Given the description of an element on the screen output the (x, y) to click on. 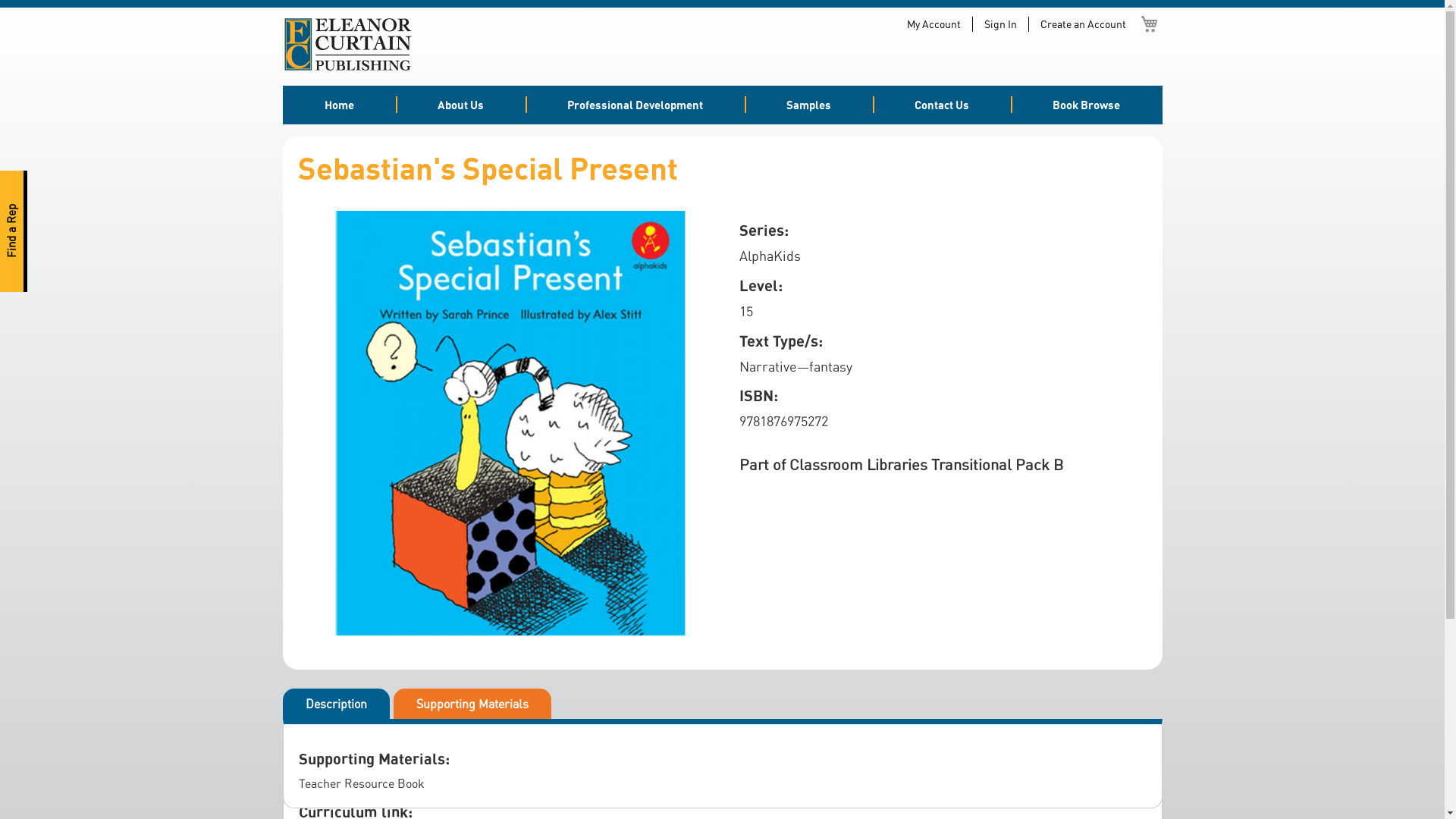
Home Element type: text (338, 104)
My Cart Element type: text (1148, 23)
My Account Element type: text (933, 23)
About Us Element type: text (460, 104)
Description Element type: text (335, 703)
Contact Us Element type: text (941, 104)
Book Browse Element type: text (1085, 104)
Supporting Materials Element type: text (471, 703)
Samples Element type: text (808, 104)
Find a Rep Element type: text (60, 183)
Sign In Element type: text (1000, 23)
Professional Development Element type: text (634, 104)
Create an Account Element type: text (1083, 23)
